Given the description of an element on the screen output the (x, y) to click on. 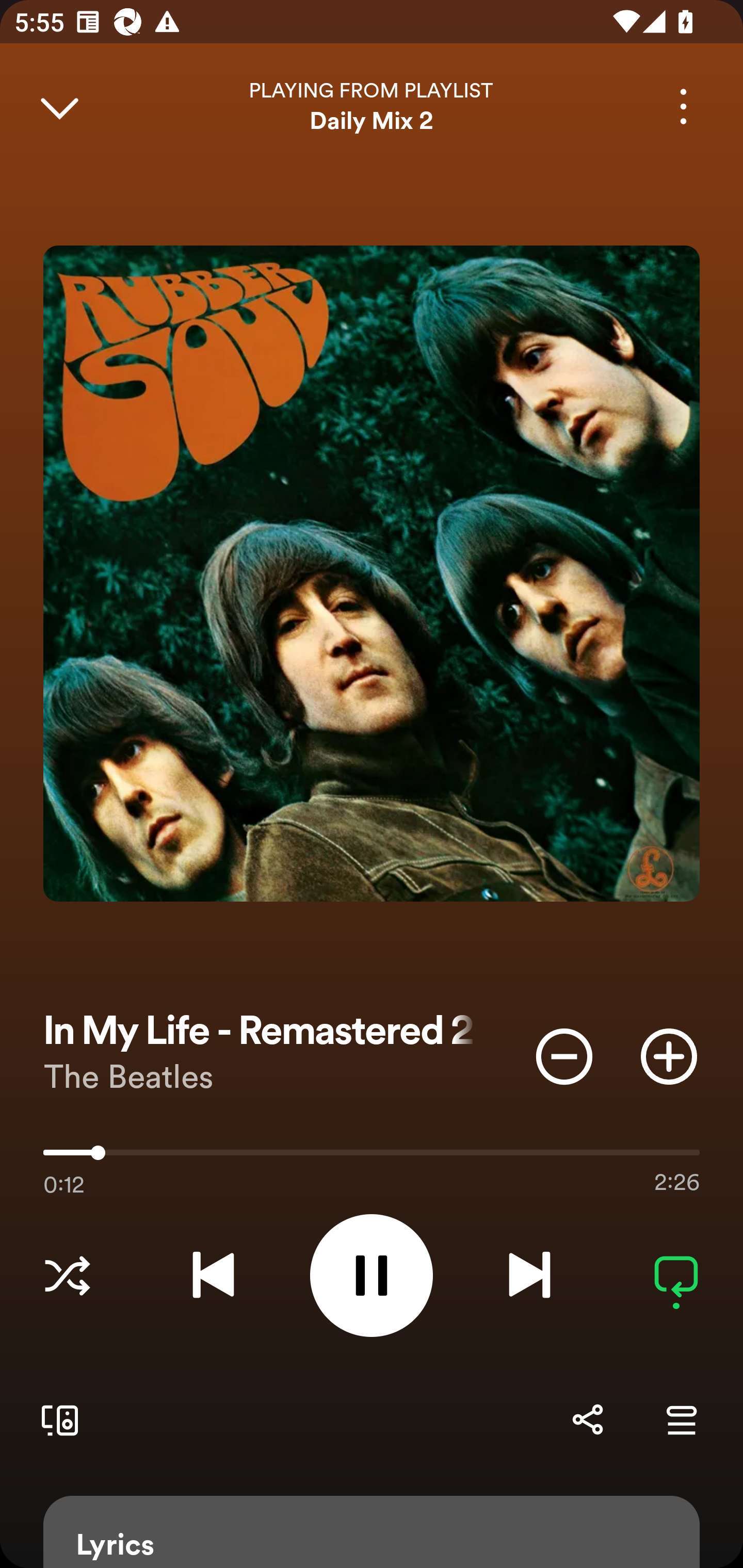
Close (59, 106)
More options for song In My Life - Remastered 2009 (683, 106)
PLAYING FROM PLAYLIST Daily Mix 2 (371, 106)
Don't play this (564, 1056)
Add item (669, 1056)
0:12 2:26 12085.0 Use volume keys to adjust (371, 1157)
Pause (371, 1275)
Previous (212, 1275)
Next (529, 1275)
Shuffle tracks (66, 1275)
Repeat (676, 1275)
Share (587, 1419)
Go to Queue (681, 1419)
Connect to a device. Opens the devices menu (55, 1419)
Lyrics (371, 1531)
